Given the description of an element on the screen output the (x, y) to click on. 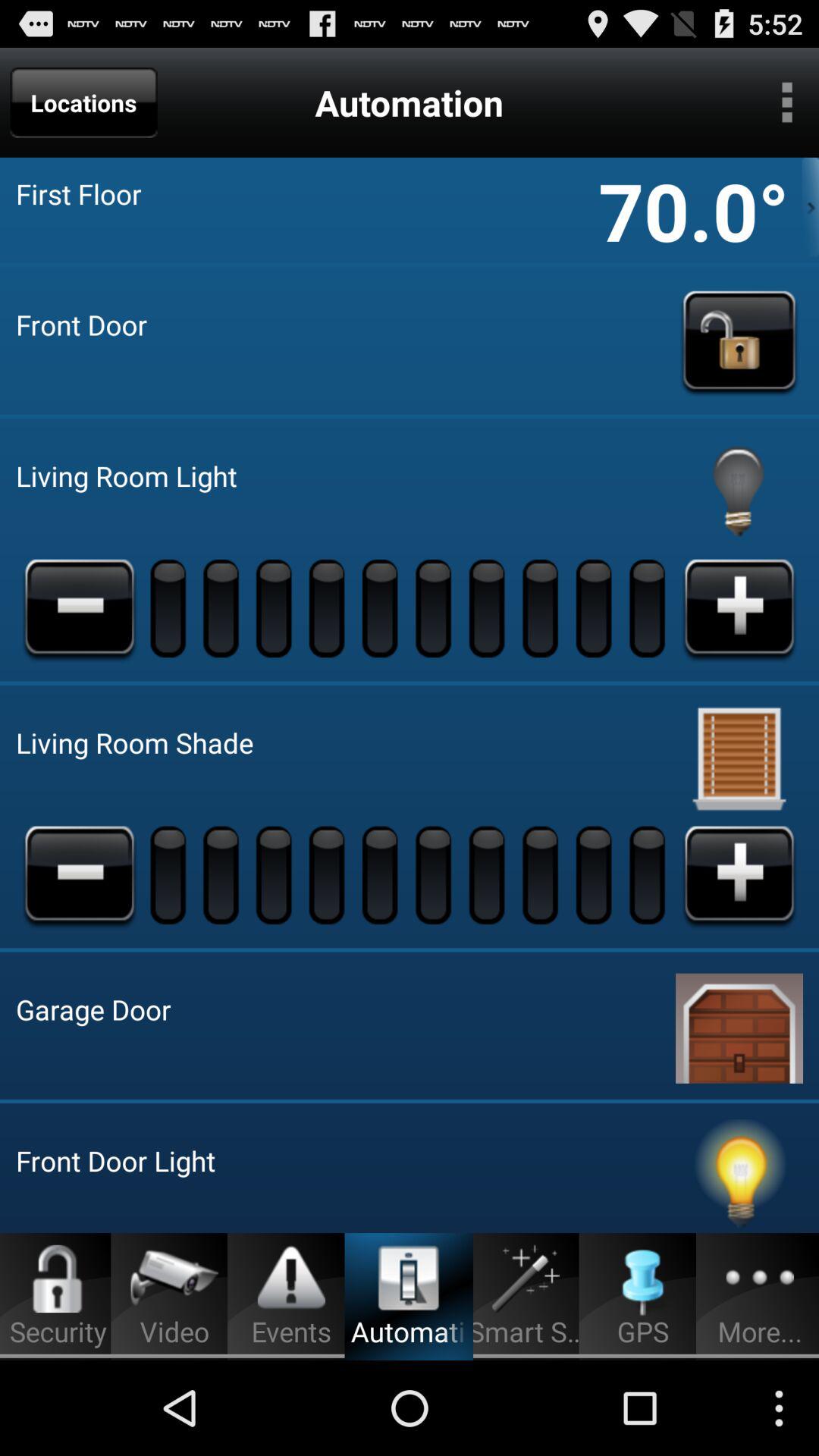
more living room shade (739, 874)
